Given the description of an element on the screen output the (x, y) to click on. 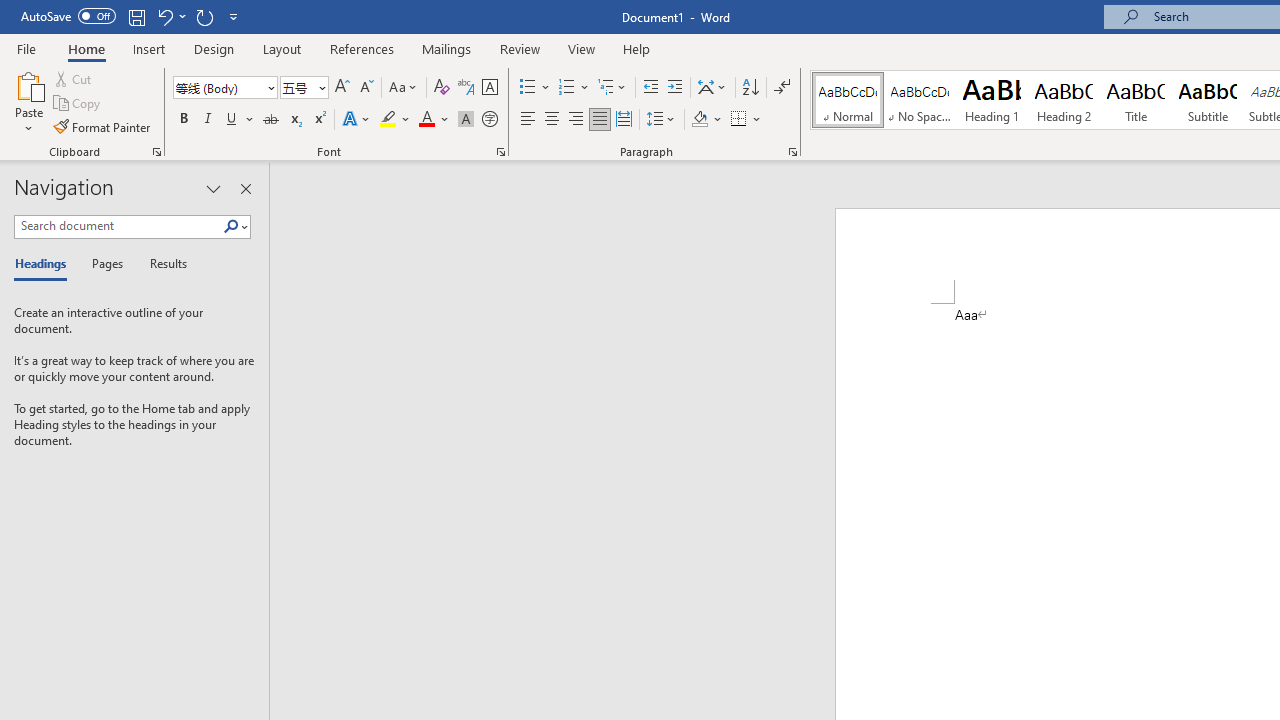
Heading 2 (1063, 100)
